Given the description of an element on the screen output the (x, y) to click on. 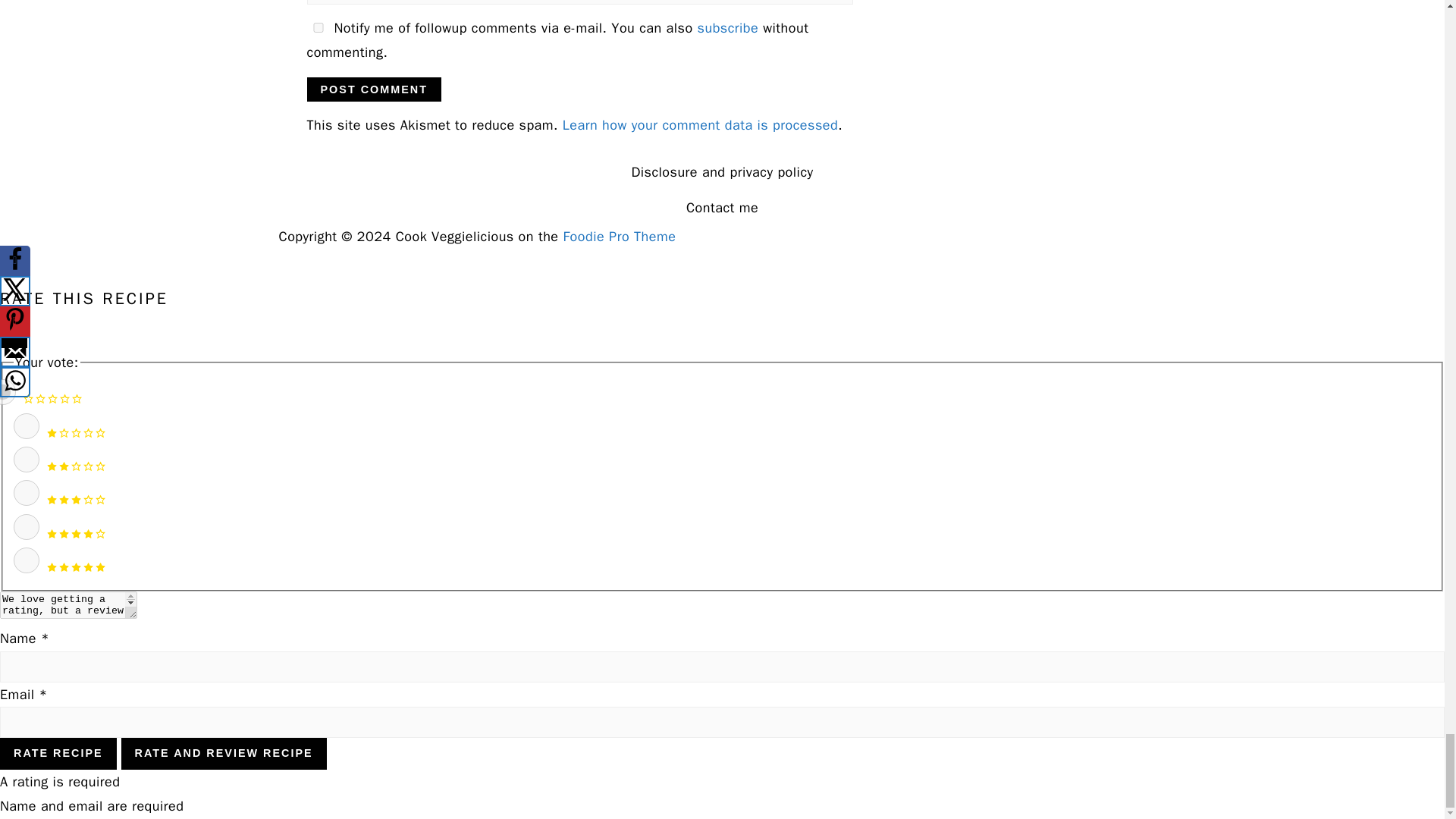
Post Comment (373, 88)
3 (26, 492)
1 (26, 425)
2 (26, 459)
yes (317, 27)
4 (26, 526)
5 (26, 560)
